Given the description of an element on the screen output the (x, y) to click on. 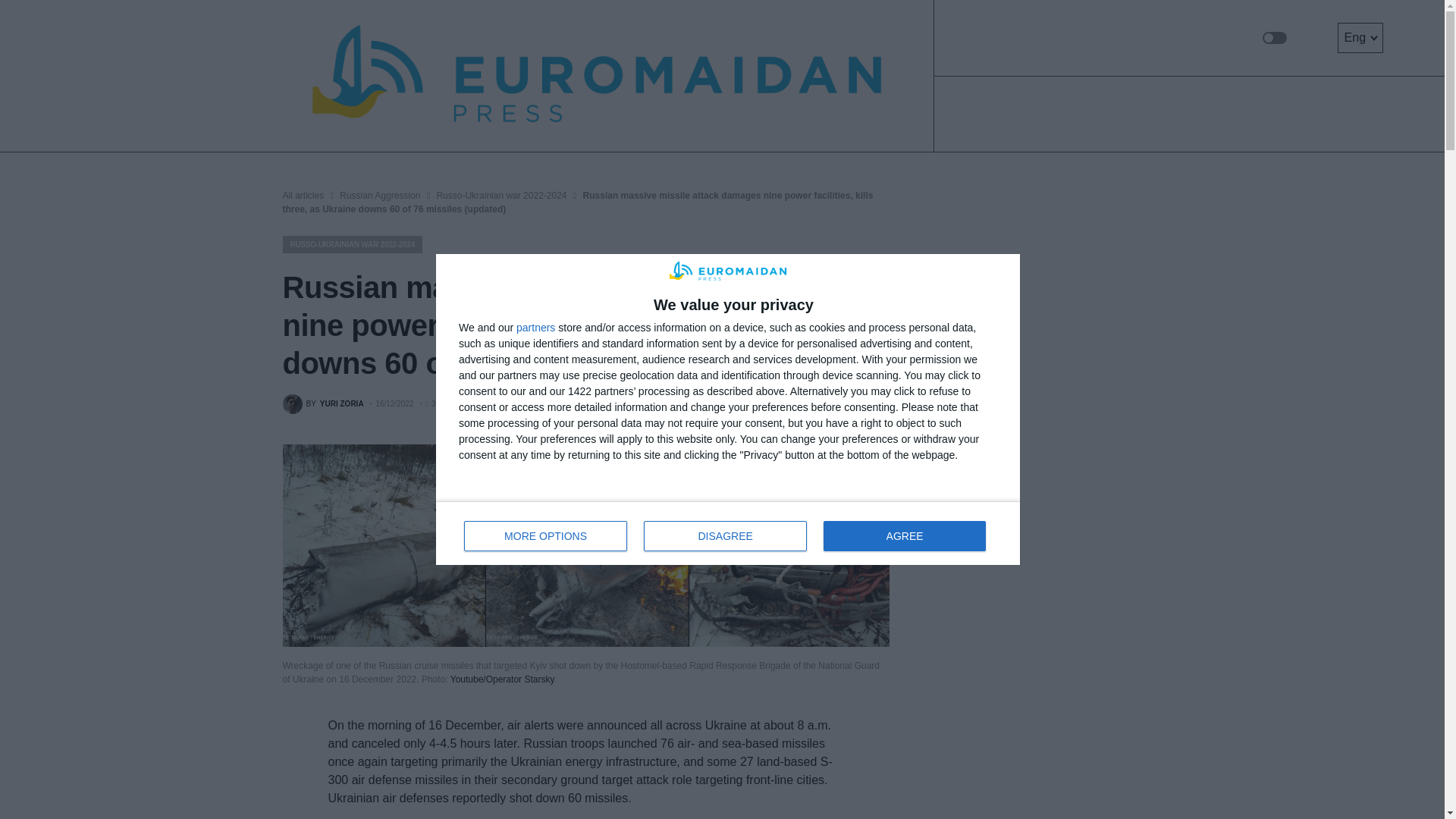
View all posts by Yuri Zoria (322, 403)
MORE OPTIONS (545, 535)
partners (535, 327)
DISAGREE (724, 535)
AGREE (727, 533)
